Given the description of an element on the screen output the (x, y) to click on. 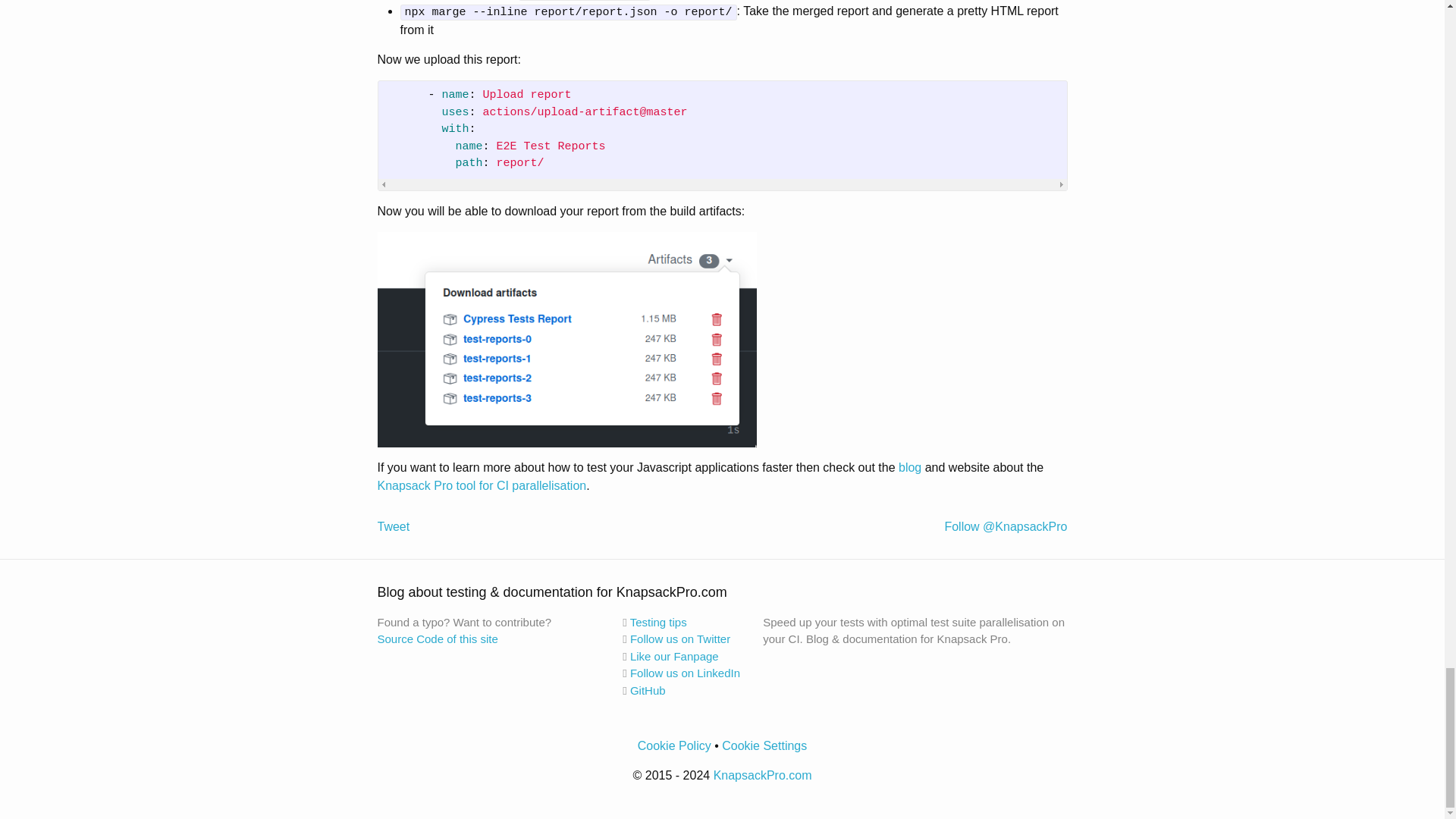
GitHub (647, 689)
Follow us on LinkedIn (684, 672)
Testing tips (658, 621)
Knapsack Pro tool for CI parallelisation (481, 485)
blog (909, 467)
Cookie Policy (674, 745)
Follow us on Twitter (680, 638)
Cookie Settings (764, 745)
KnapsackPro.com (762, 775)
Source Code of this site (437, 638)
